Given the description of an element on the screen output the (x, y) to click on. 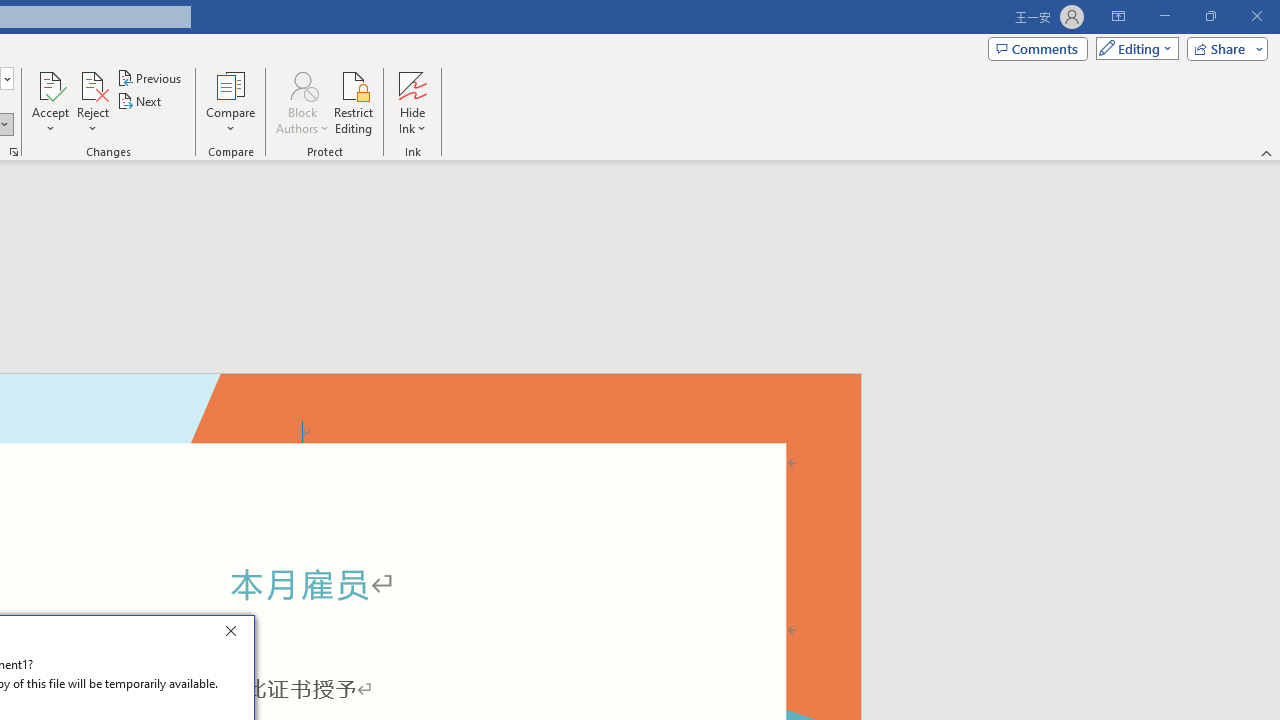
Minimize (1164, 16)
Hide Ink (412, 84)
Block Authors (302, 84)
Ribbon Display Options (1118, 16)
Compare (230, 102)
Reject (92, 102)
Change Tracking Options... (13, 151)
Accept (50, 102)
Share (1223, 48)
